Given the description of an element on the screen output the (x, y) to click on. 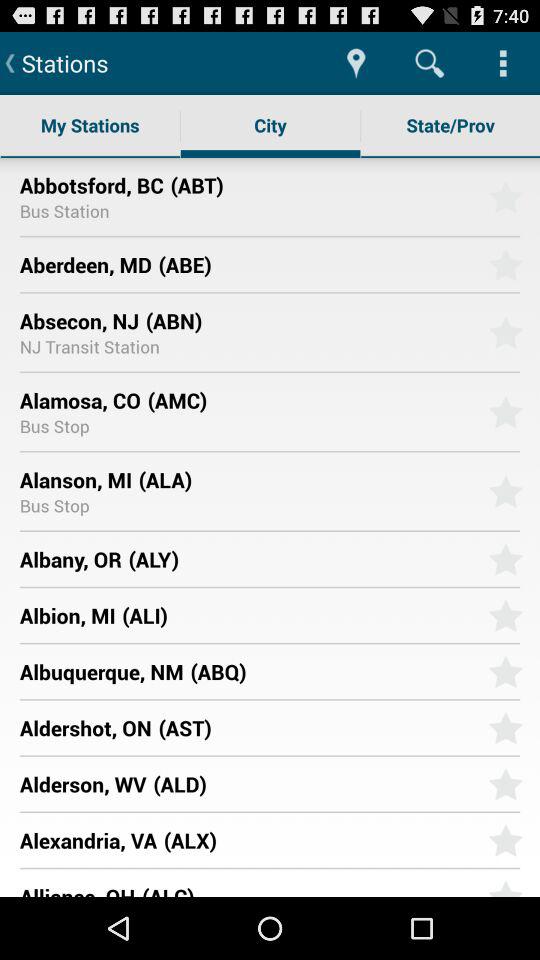
click the icon next to abbotsford, bc (322, 184)
